Given the description of an element on the screen output the (x, y) to click on. 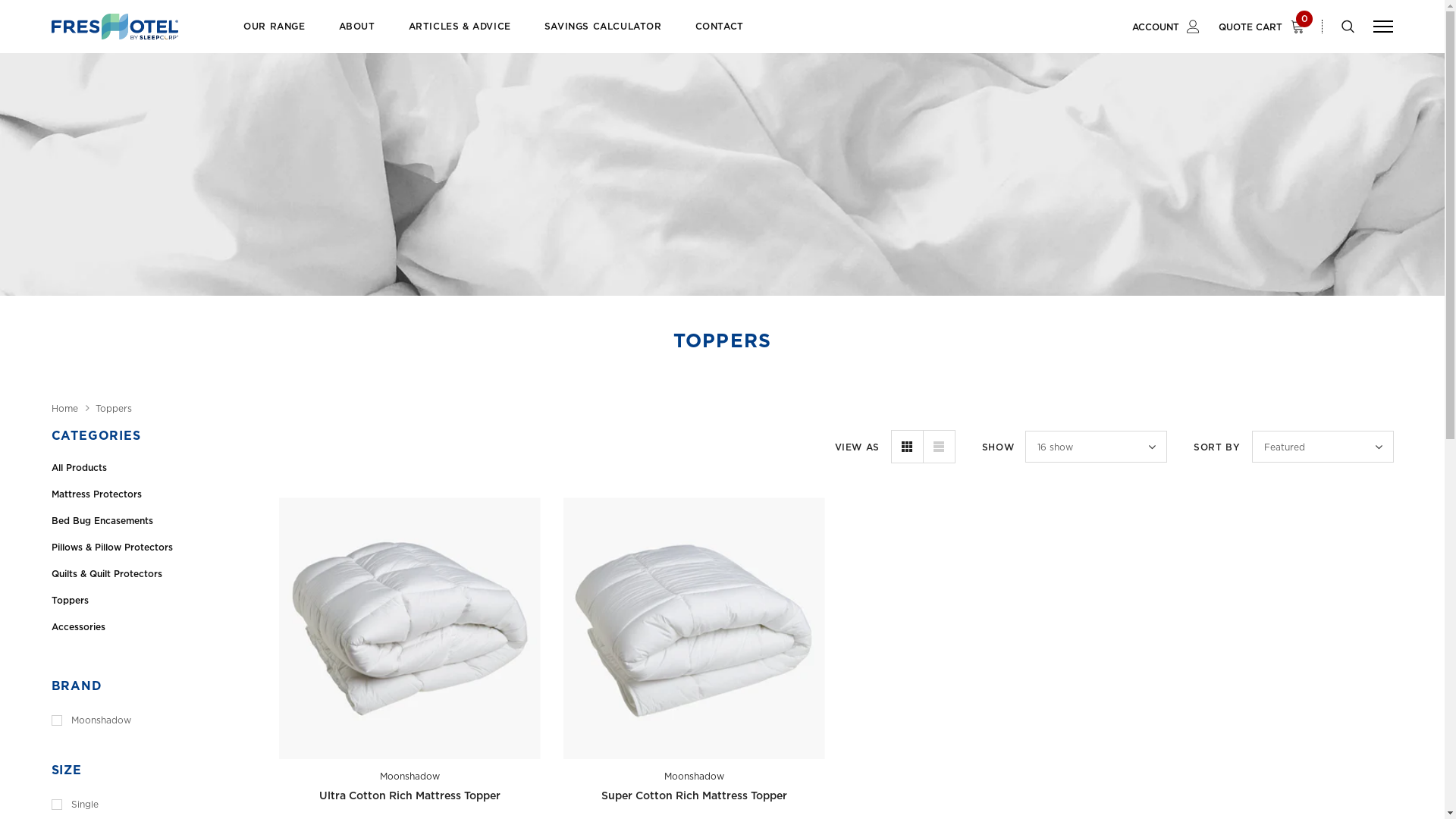
QUOTE CART
0 Element type: text (1265, 26)
Ultra Cotton Rich Mattress Topper Element type: text (409, 795)
Quilts & Quilt Protectors Element type: text (153, 573)
Moonshadow Element type: text (409, 776)
All Products Element type: text (153, 467)
ACCOUNT Element type: text (1165, 26)
OUR RANGE Element type: text (273, 35)
Pillows & Pillow Protectors Element type: text (153, 546)
Logo Element type: hover (114, 26)
CONTACT Element type: text (719, 35)
Moonshadow Element type: text (694, 776)
Right Menu Element type: hover (1383, 25)
Home Element type: text (64, 408)
SAVINGS CALCULATOR Element type: text (603, 35)
Toppers Element type: text (153, 599)
Mattress Protectors Element type: text (153, 493)
Super Cotton Rich Mattress Topper Element type: text (693, 795)
ARTICLES & ADVICE Element type: text (459, 35)
Toppers Element type: text (113, 408)
Accessories Element type: text (153, 626)
ABOUT Element type: text (356, 35)
Bed Bug Encasements Element type: text (153, 520)
